Given the description of an element on the screen output the (x, y) to click on. 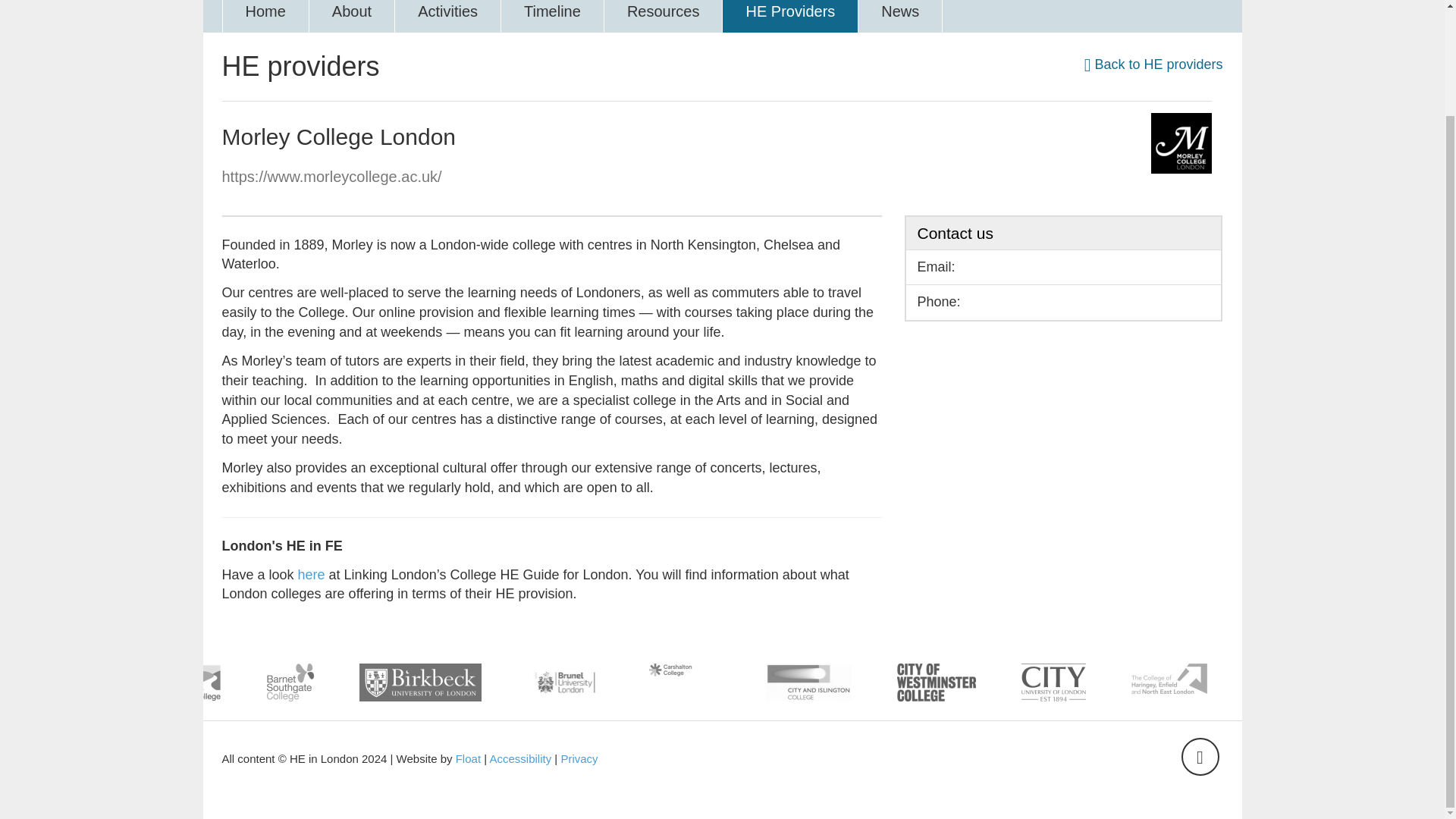
News (900, 16)
Timeline (552, 16)
Home (264, 16)
Twitter (1200, 756)
Back to HE providers (1153, 64)
Resources (663, 16)
About (351, 16)
HE Providers (790, 16)
here (311, 574)
Activities (447, 16)
